Given the description of an element on the screen output the (x, y) to click on. 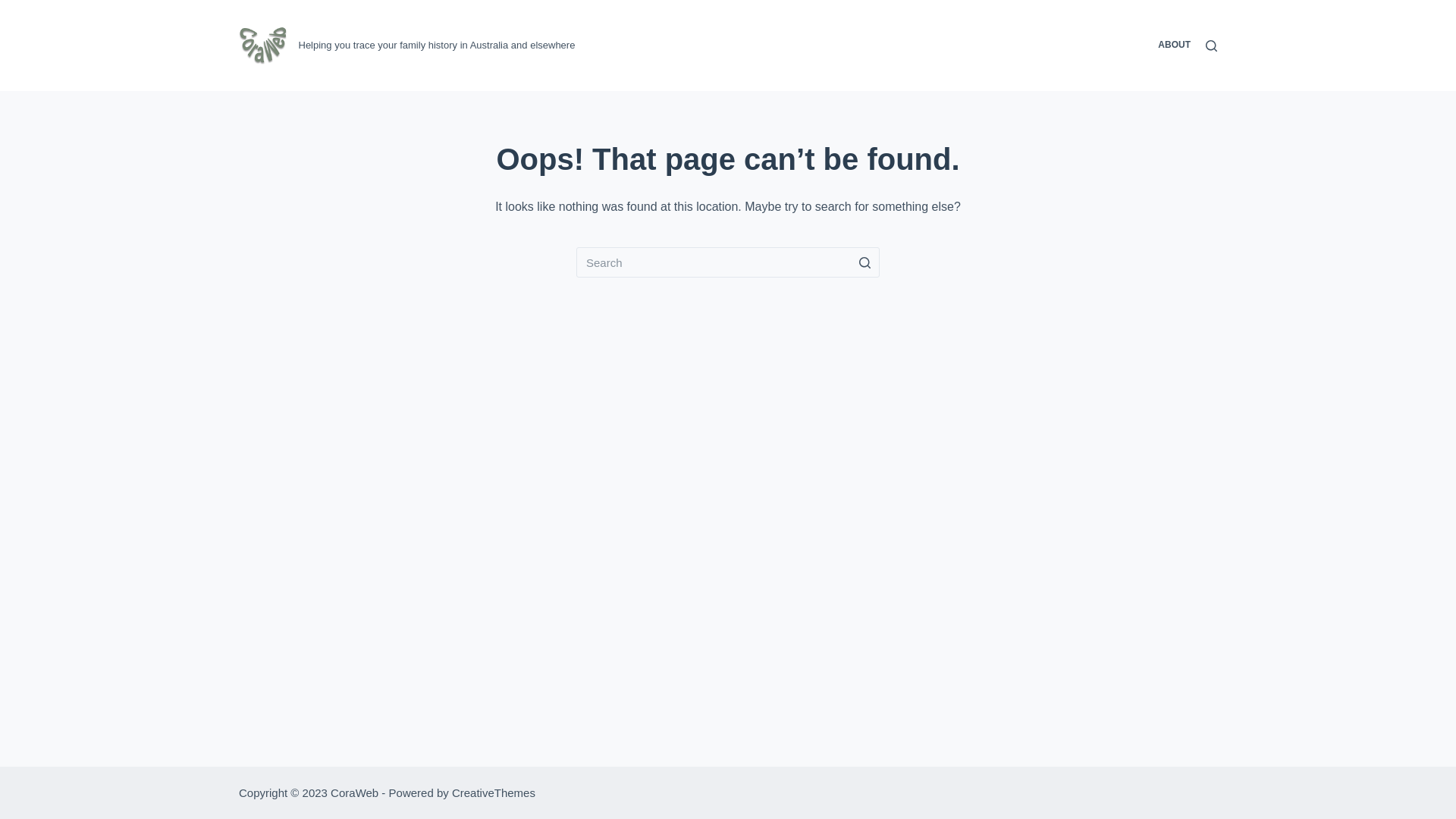
Search Input Element type: hover (727, 262)
Skip to content Element type: text (15, 7)
ABOUT Element type: text (1173, 45)
